Given the description of an element on the screen output the (x, y) to click on. 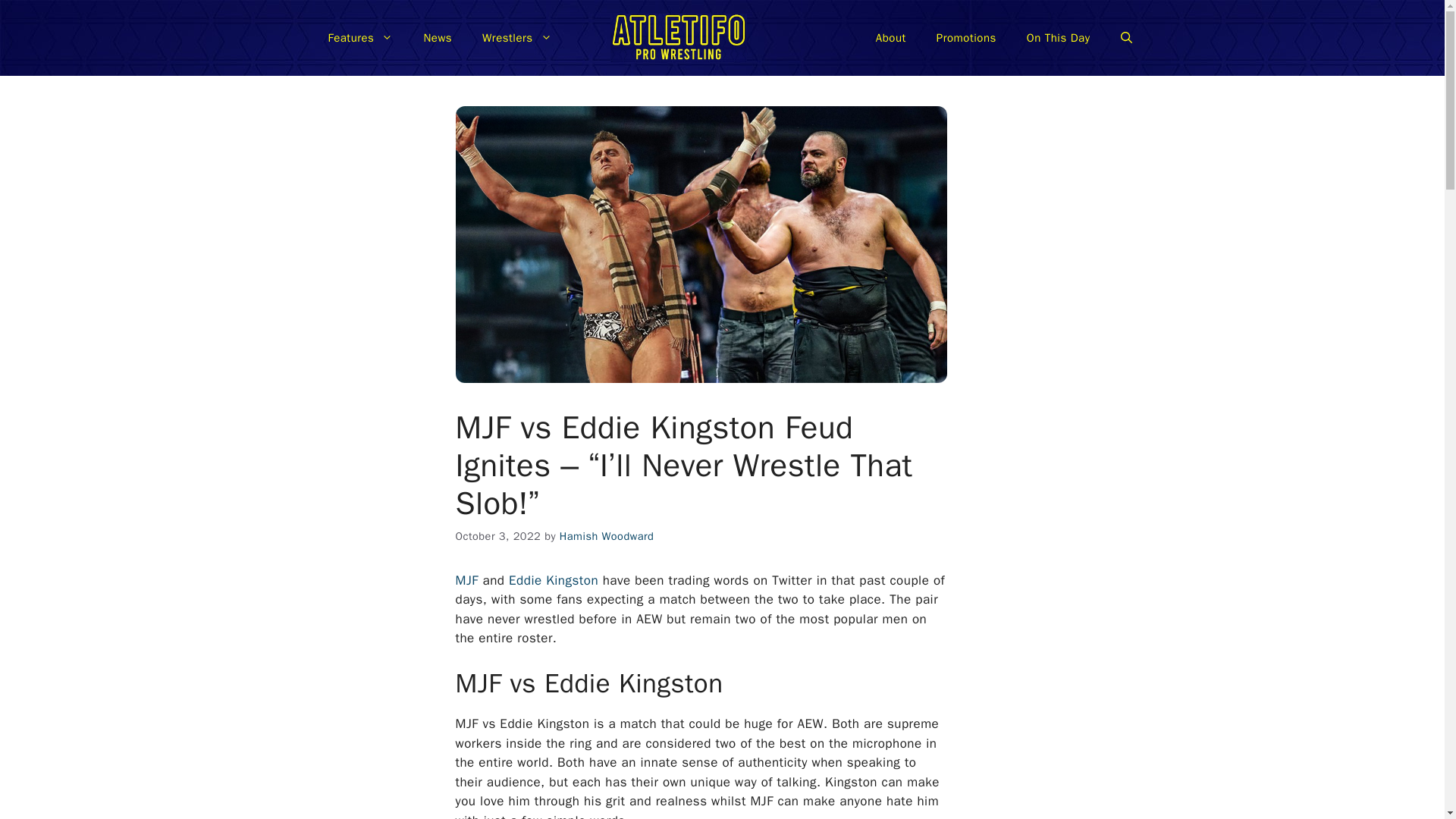
MJF (467, 580)
About (890, 37)
Eddie Kingston (553, 580)
View all posts by Hamish Woodward (606, 535)
Hamish Woodward (606, 535)
Promotions (966, 37)
On This Day (1058, 37)
Wrestlers (517, 37)
News (437, 37)
Features (360, 37)
